Given the description of an element on the screen output the (x, y) to click on. 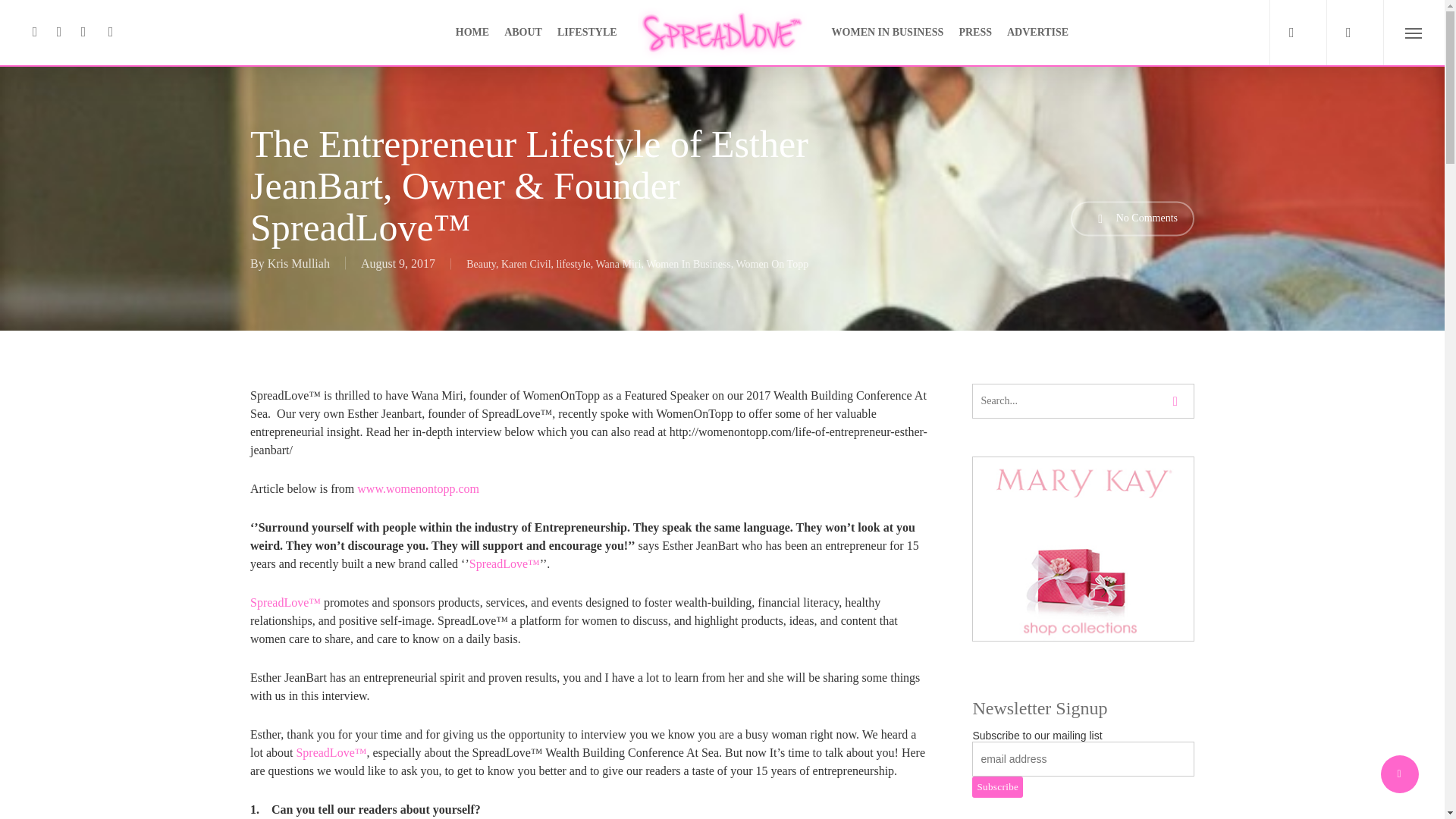
Wana Miri (617, 263)
lifestyle (573, 263)
Kris Mulliah (298, 262)
Subscribe (997, 786)
ABOUT (522, 32)
TWITTER (34, 32)
PRESS (974, 32)
Beauty (480, 263)
PINTEREST (83, 32)
Karen Civil (525, 263)
Women In Business (688, 263)
Subscribe (997, 786)
www.womenontopp.com (417, 488)
LIFESTYLE (587, 32)
Posts by Kris Mulliah (298, 262)
